Given the description of an element on the screen output the (x, y) to click on. 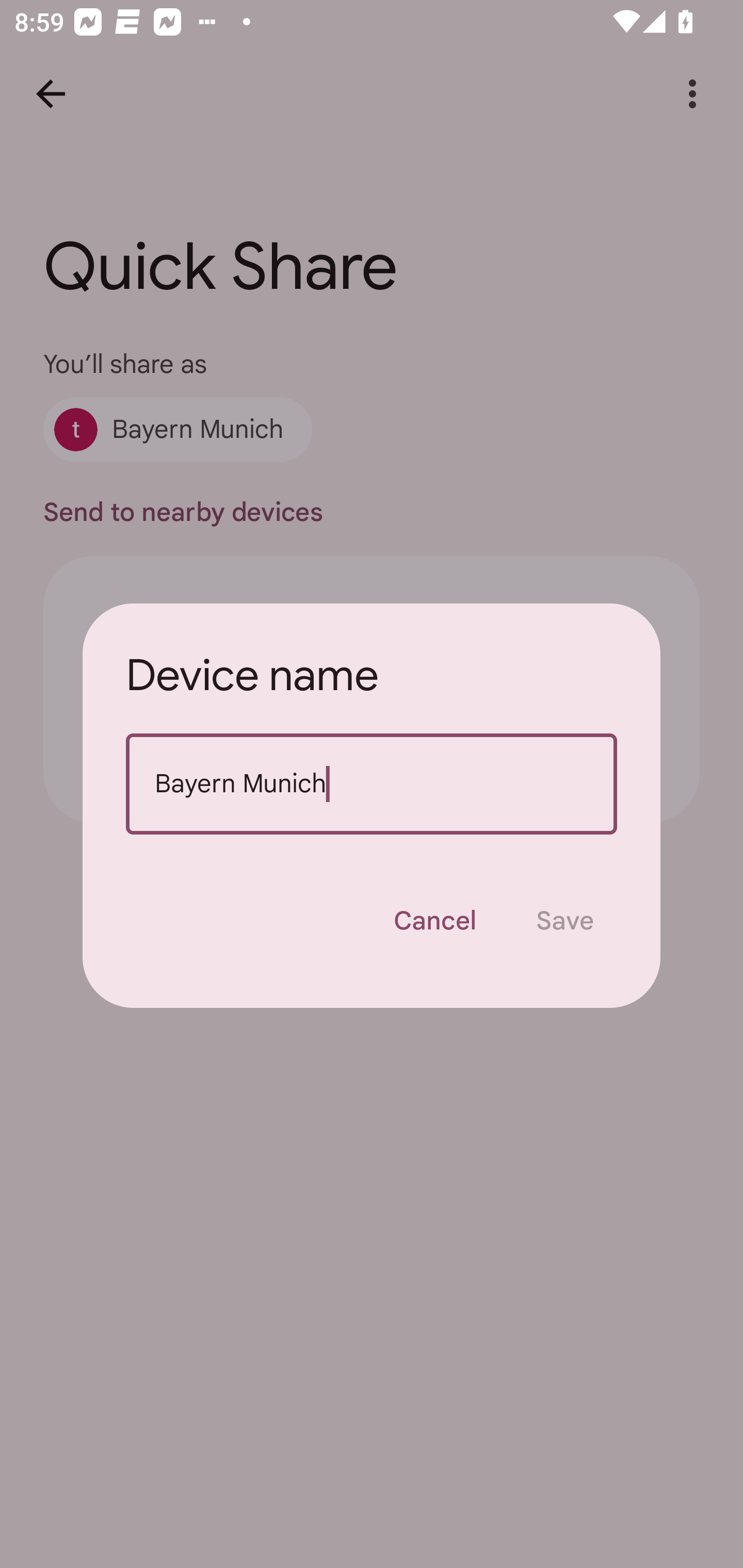
Bayern Munich Device name (371, 783)
Cancel (434, 921)
Save (564, 921)
